Given the description of an element on the screen output the (x, y) to click on. 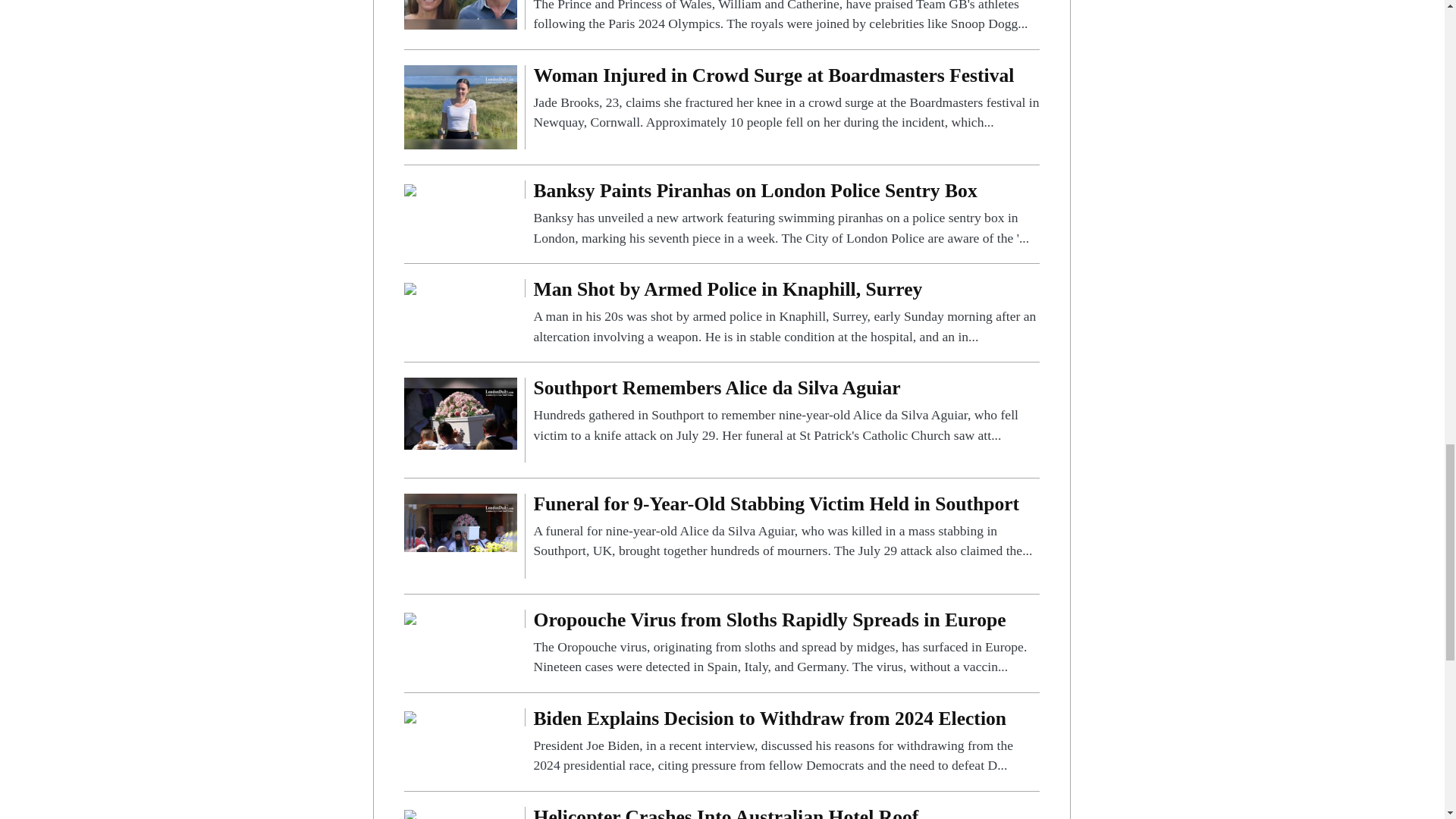
Oropouche Virus from Sloths Rapidly Spreads in Europe (410, 617)
Man Shot by Armed Police in Knaphill, Surrey (410, 287)
Man Shot by Armed Police in Knaphill, Surrey (785, 312)
Helicopter Crashes Into Australian Hotel Roof (410, 813)
Southport Remembers Alice da Silva Aguiar (785, 411)
